Given the description of an element on the screen output the (x, y) to click on. 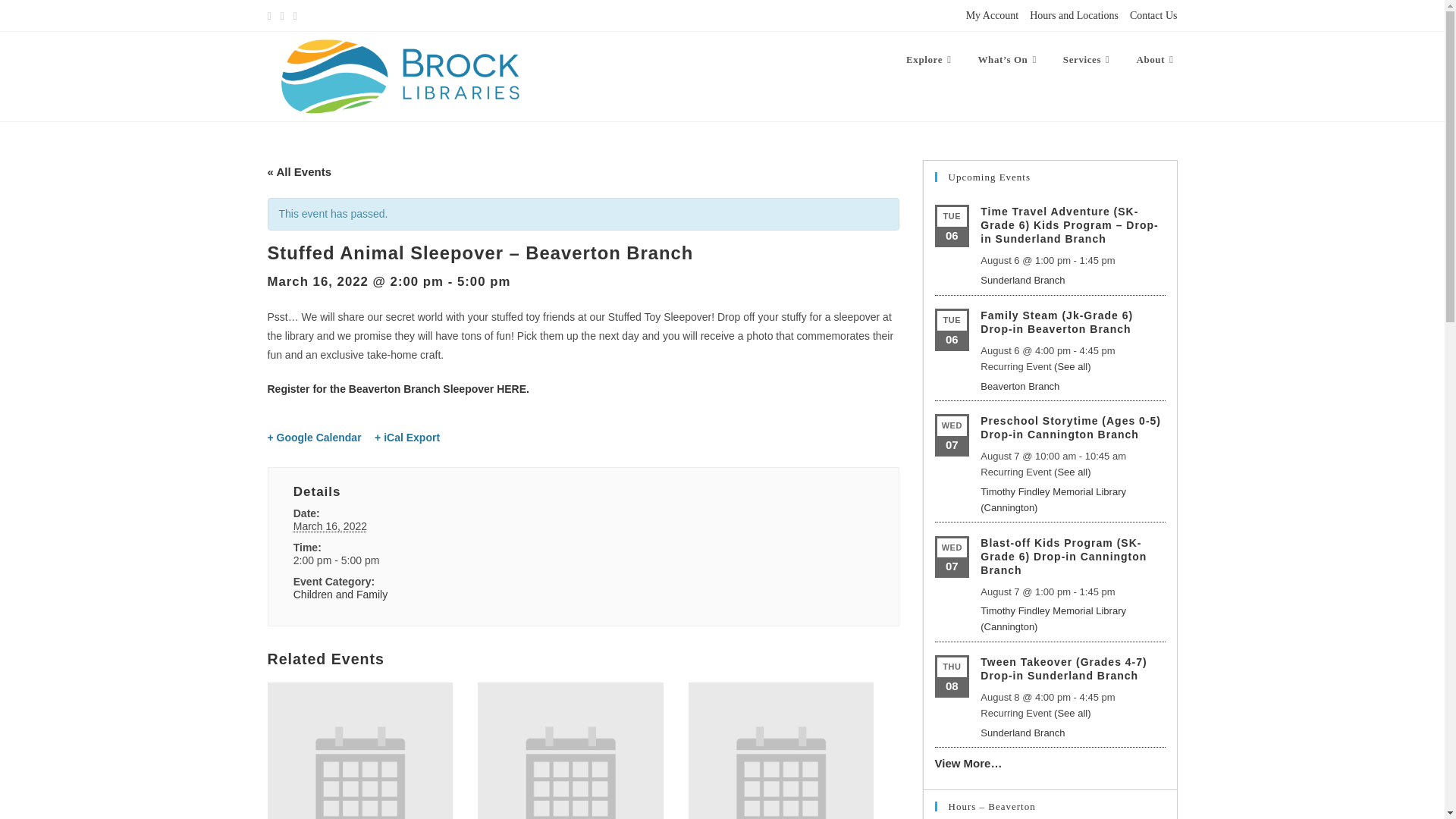
Add to Google Calendar (313, 437)
Explore (930, 59)
My Account (992, 15)
Sunderland Branch (1021, 732)
Services (1088, 59)
Beaverton Branch (1019, 386)
Sunderland Branch (1021, 279)
Download .ics file (406, 437)
2022-03-16 (373, 560)
Hours and Locations (1073, 15)
2022-03-16 (330, 526)
Contact Us (1153, 15)
